Given the description of an element on the screen output the (x, y) to click on. 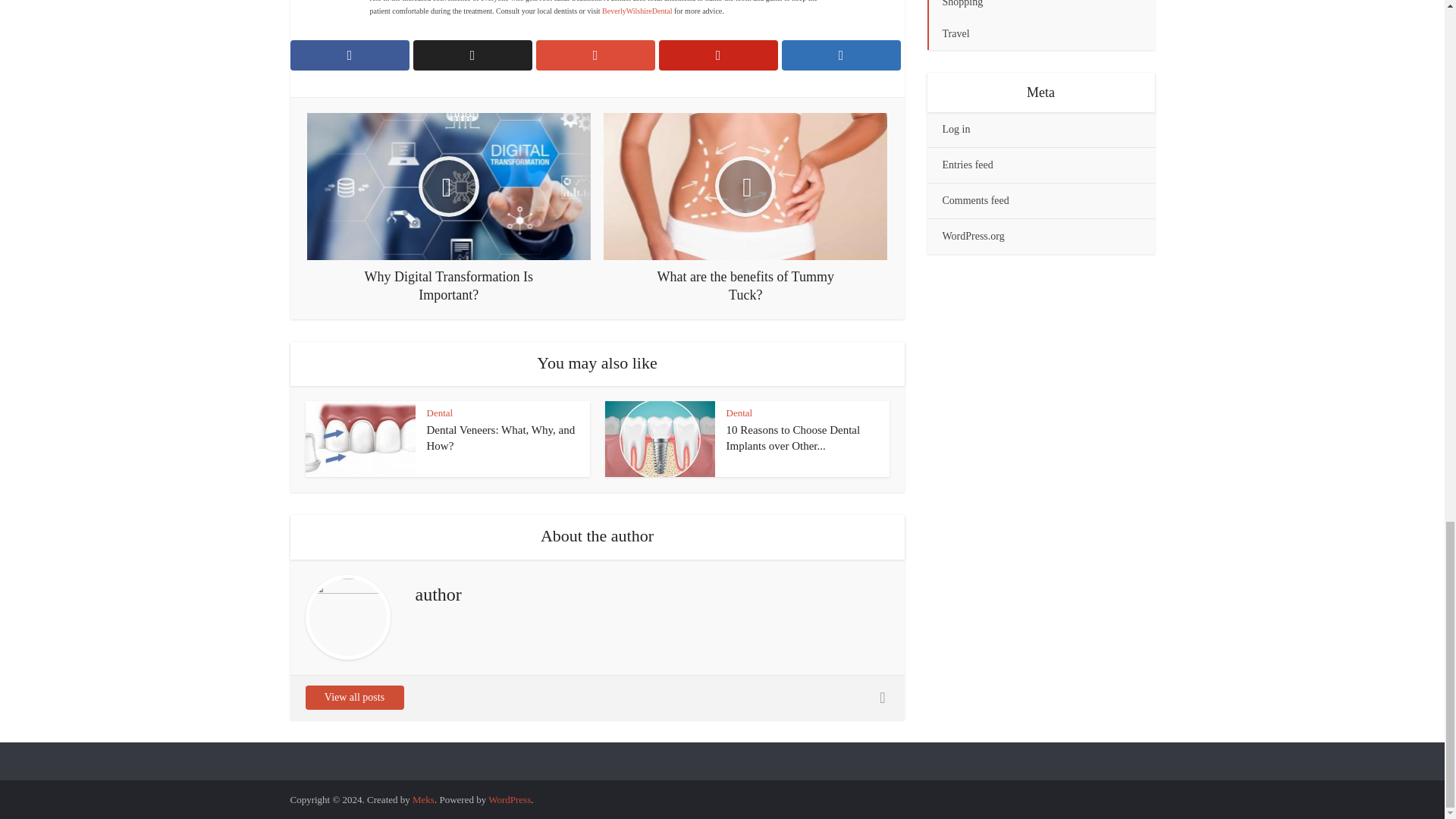
What are the benefits of Tummy Tuck? (745, 208)
BeverlyWilshireDental (636, 10)
Dental Veneers: What, Why, and How? (500, 437)
Dental (439, 412)
Dental (739, 412)
10 Reasons to Choose Dental Implants over Other Replacements (793, 437)
10 Reasons to Choose Dental Implants over Other... (793, 437)
View all posts (353, 697)
Dental Veneers: What, Why, and How? (500, 437)
Why Digital Transformation Is Important? (449, 208)
